Given the description of an element on the screen output the (x, y) to click on. 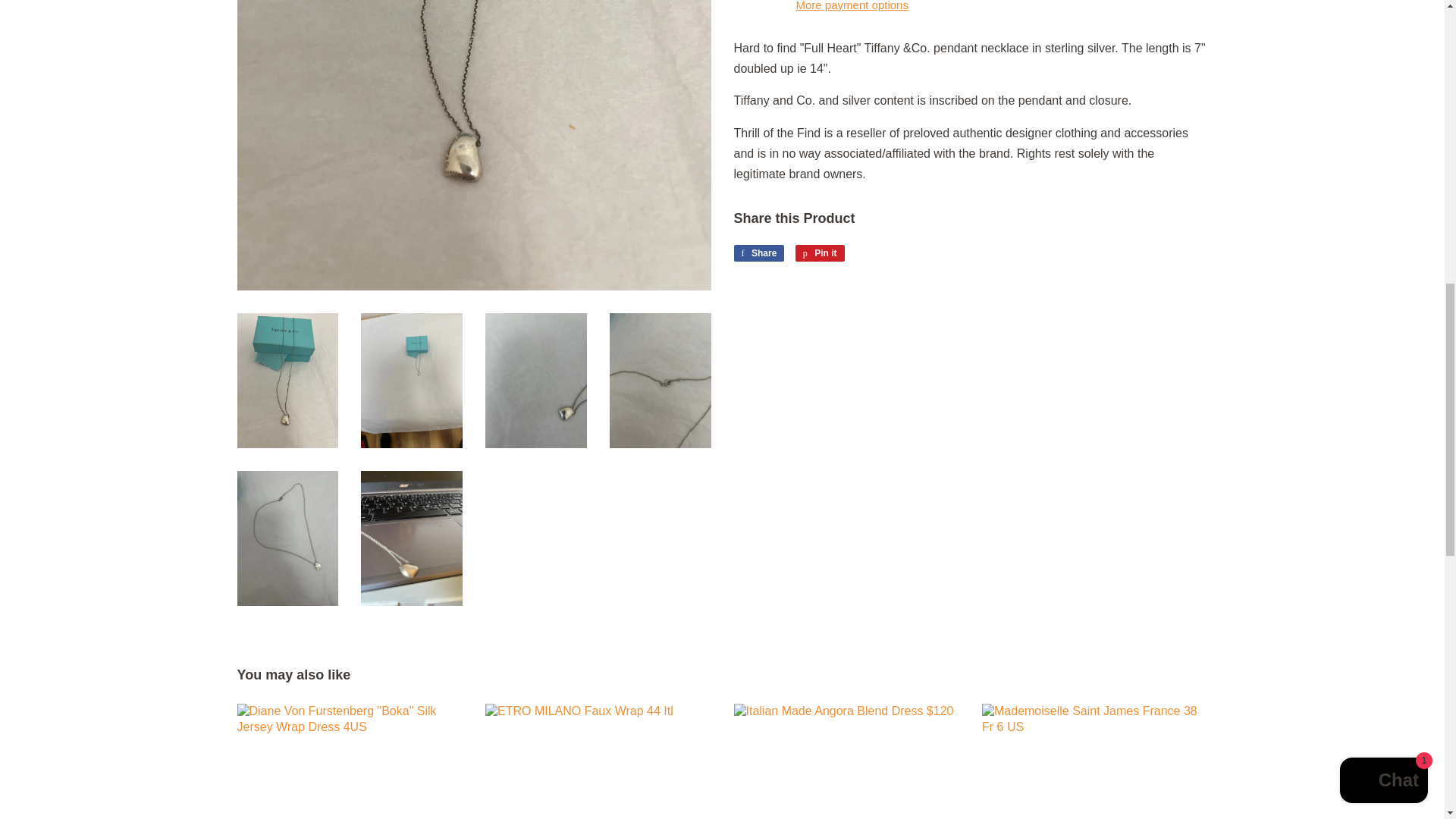
Pin on Pinterest (819, 252)
Share on Facebook (758, 252)
More payment options (819, 252)
